Given the description of an element on the screen output the (x, y) to click on. 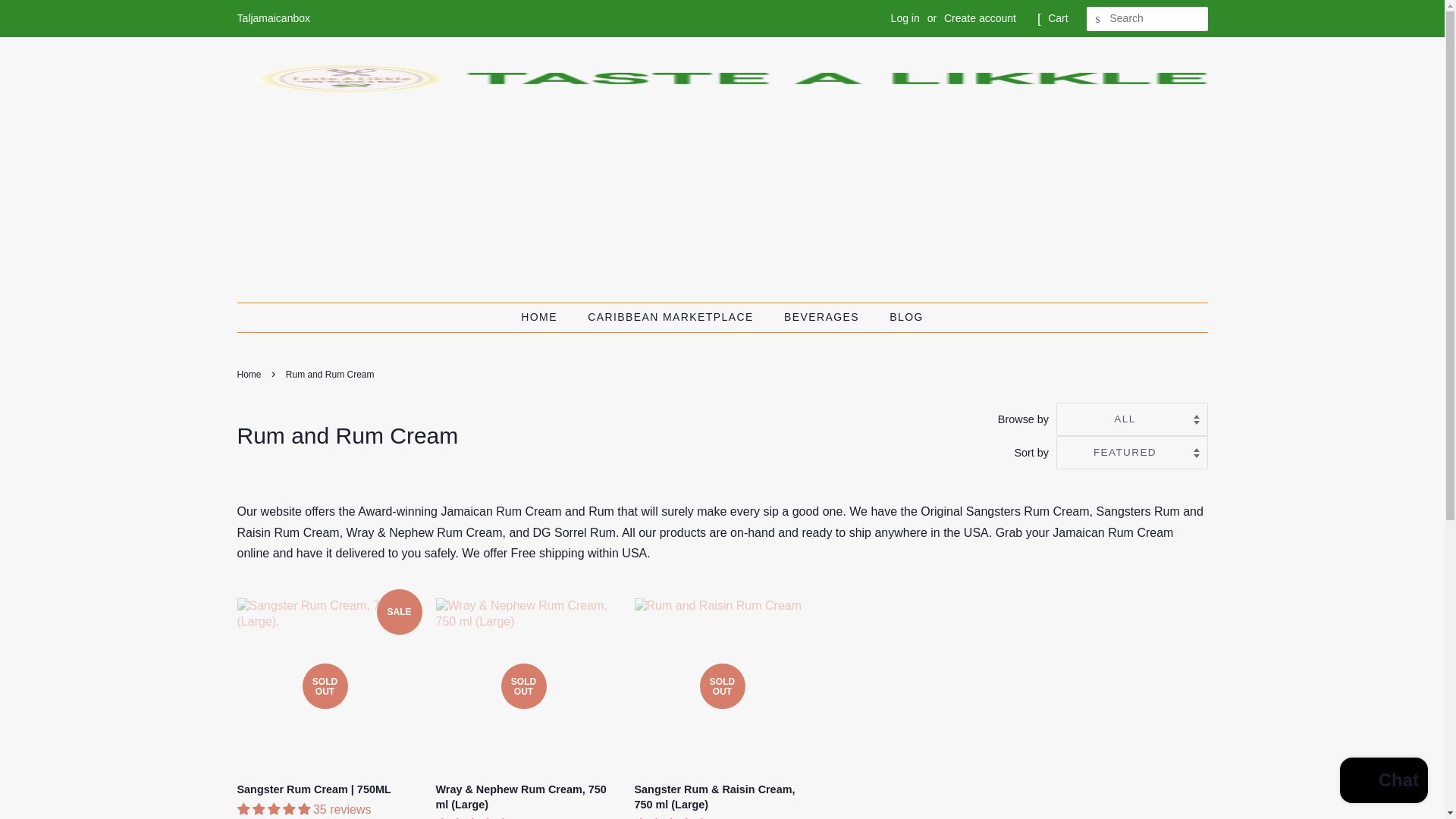
BEVERAGES (824, 317)
Log in (905, 18)
Cart (1057, 18)
SEARCH (1097, 18)
CARIBBEAN MARKETPLACE (672, 317)
Shopify online store chat (1383, 781)
BLOG (900, 317)
Back to the frontpage (249, 374)
HOME (546, 317)
Home (249, 374)
Create account (979, 18)
